Given the description of an element on the screen output the (x, y) to click on. 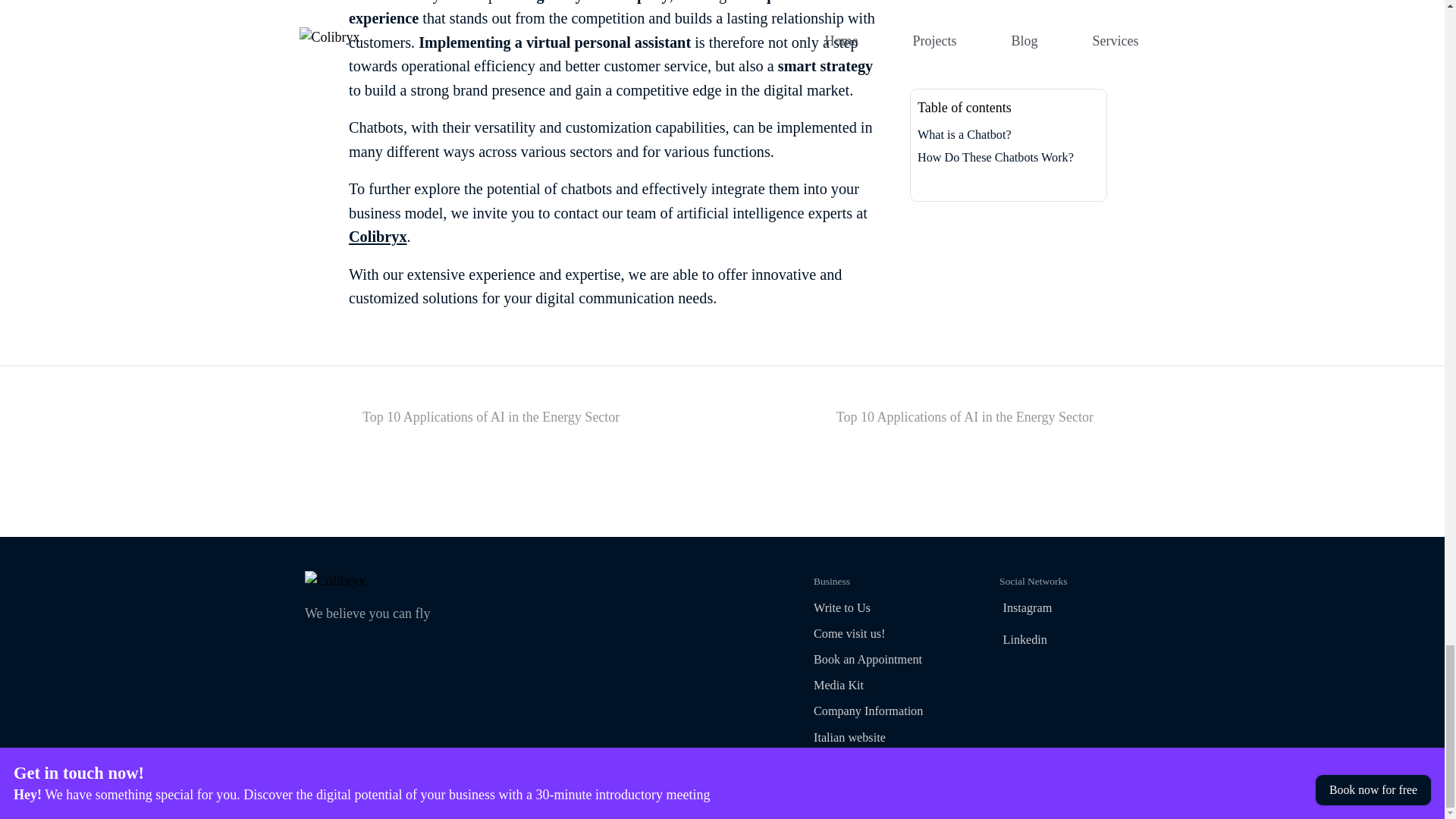
Company Information (925, 417)
Media Kit (889, 711)
Book an Appointment (889, 685)
Book an Appointment (889, 659)
Media Kit (889, 659)
Write to Us (889, 685)
Top 10 Applications of AI in the Energy Sector (889, 607)
Write to Us (530, 417)
Colibryx (889, 607)
Top 10 Applications of AI in the Energy Sector (378, 236)
Italian website (1074, 642)
